Given the description of an element on the screen output the (x, y) to click on. 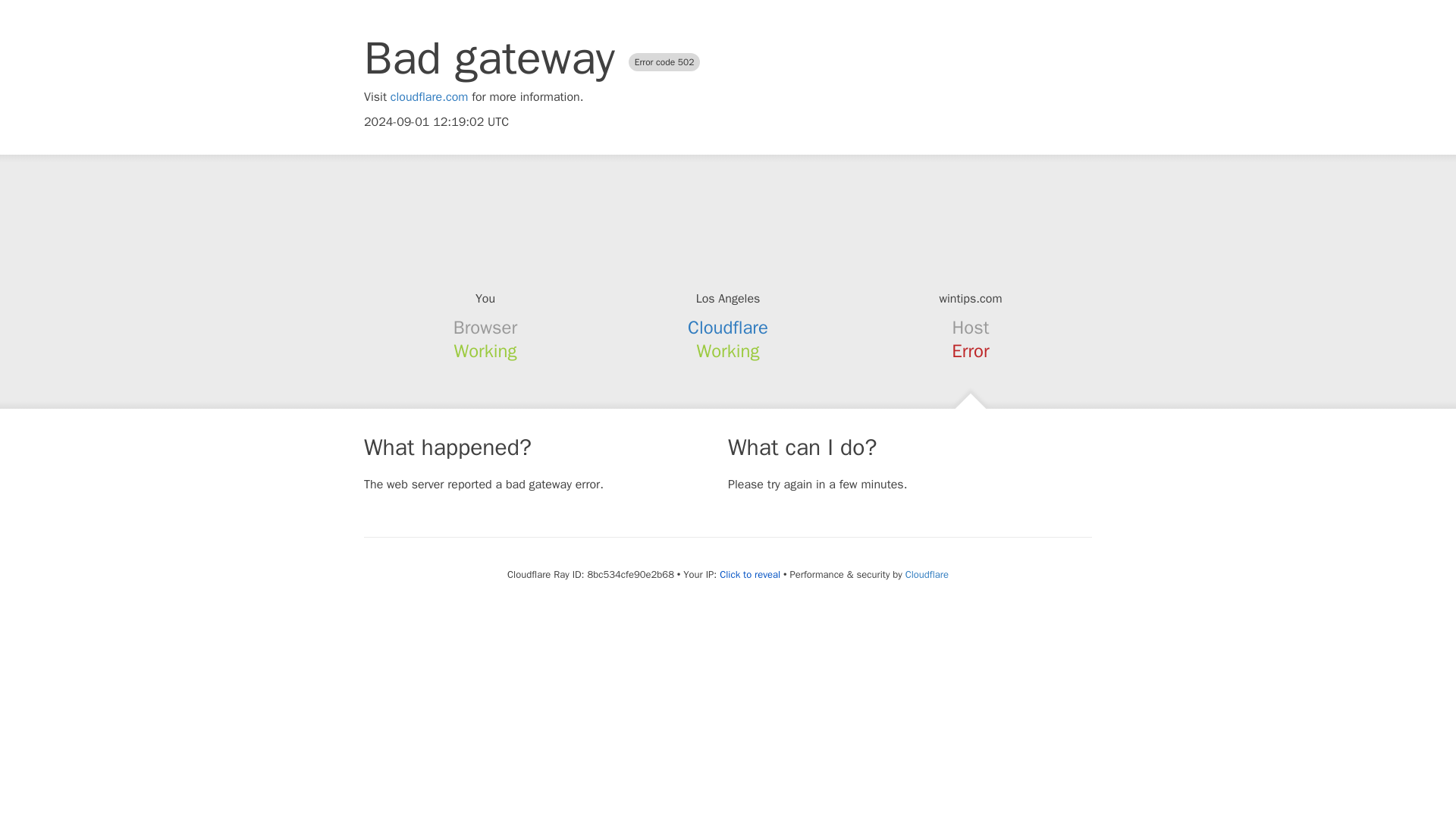
Cloudflare (727, 327)
cloudflare.com (429, 96)
Cloudflare (927, 574)
Click to reveal (749, 574)
